Given the description of an element on the screen output the (x, y) to click on. 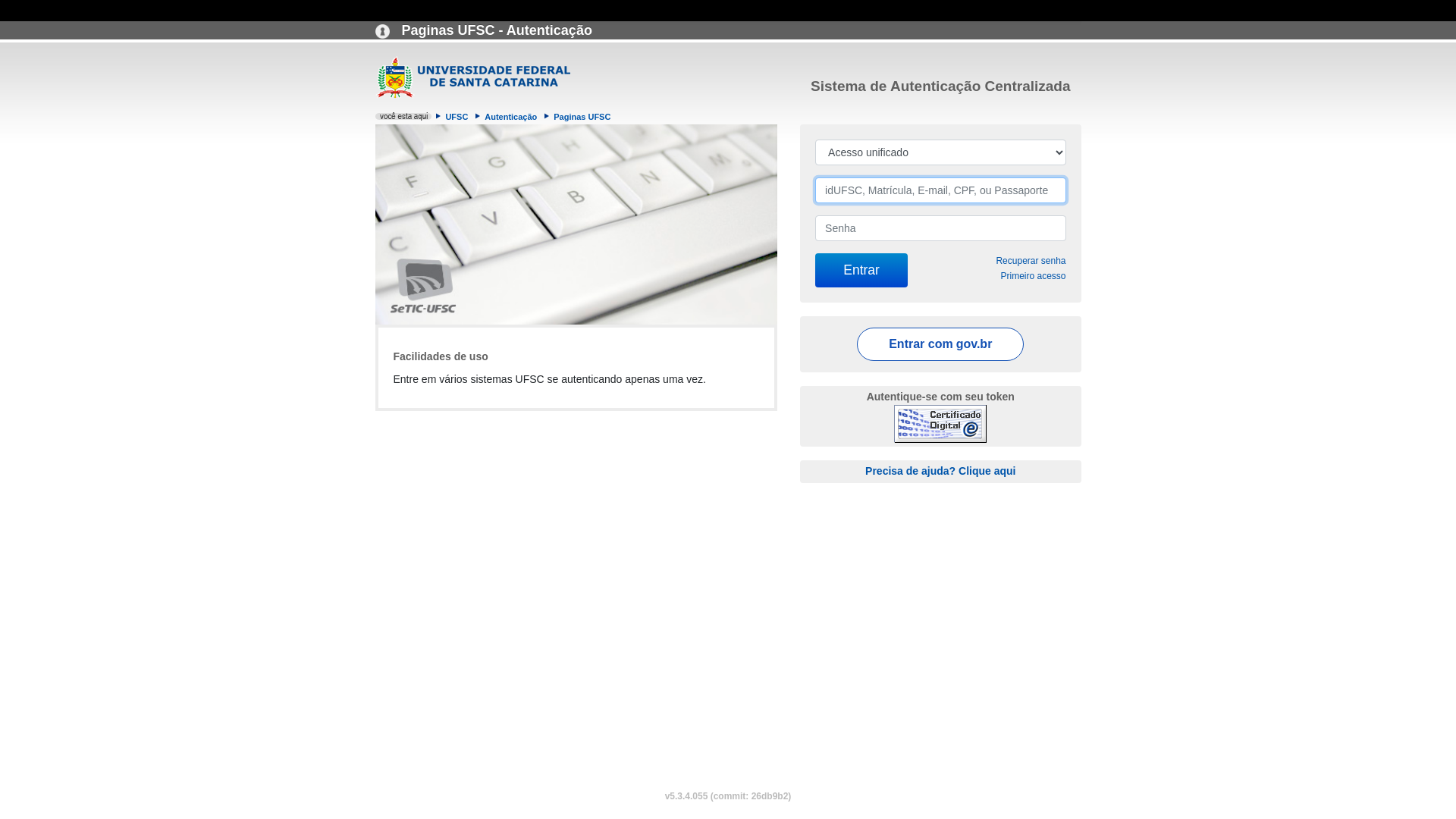
UFSC Element type: text (456, 116)
Recuperar senha Element type: text (1030, 260)
Primeiro acesso Element type: text (1032, 275)
Paginas UFSC Element type: text (581, 116)
Precisa de ajuda? Clique aqui Element type: text (940, 470)
Entrar Element type: text (861, 270)
Entrar com
gov.br Element type: text (939, 343)
